Given the description of an element on the screen output the (x, y) to click on. 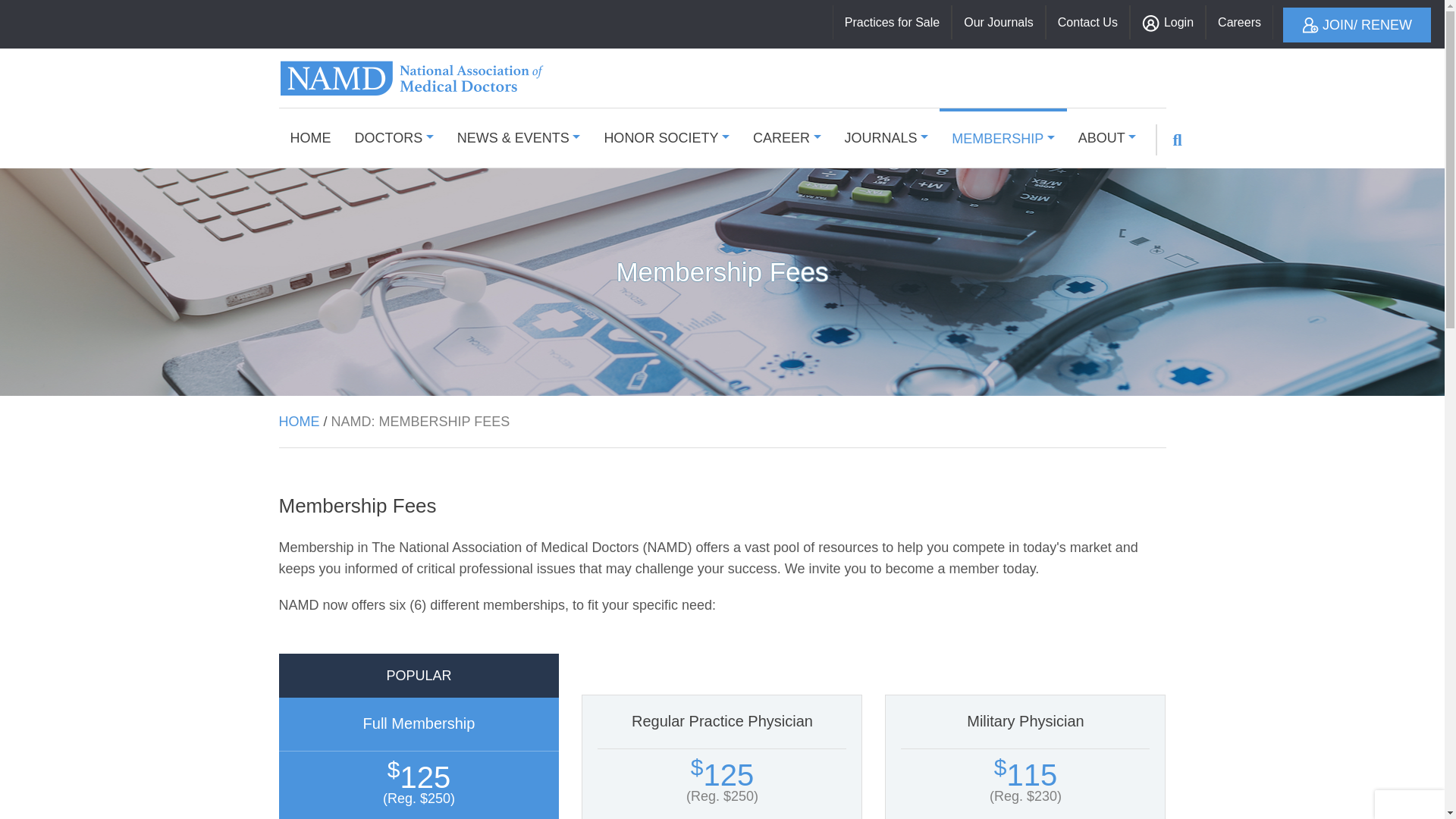
Practices for Sale (892, 21)
Login (1167, 21)
DOCTORS (393, 137)
CAREER (786, 137)
American Society of Registered Nurses  (411, 77)
Careers (1238, 21)
Our Journals (998, 21)
Contact Us (1087, 21)
HOME (310, 137)
TrustedSite Certified (1409, 804)
HONOR SOCIETY (666, 137)
